Given the description of an element on the screen output the (x, y) to click on. 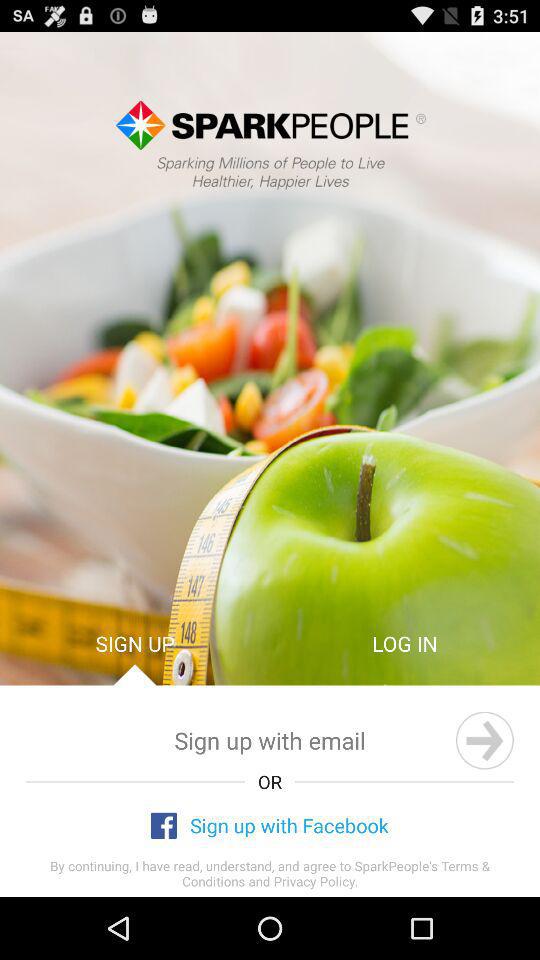
next button (484, 740)
